Given the description of an element on the screen output the (x, y) to click on. 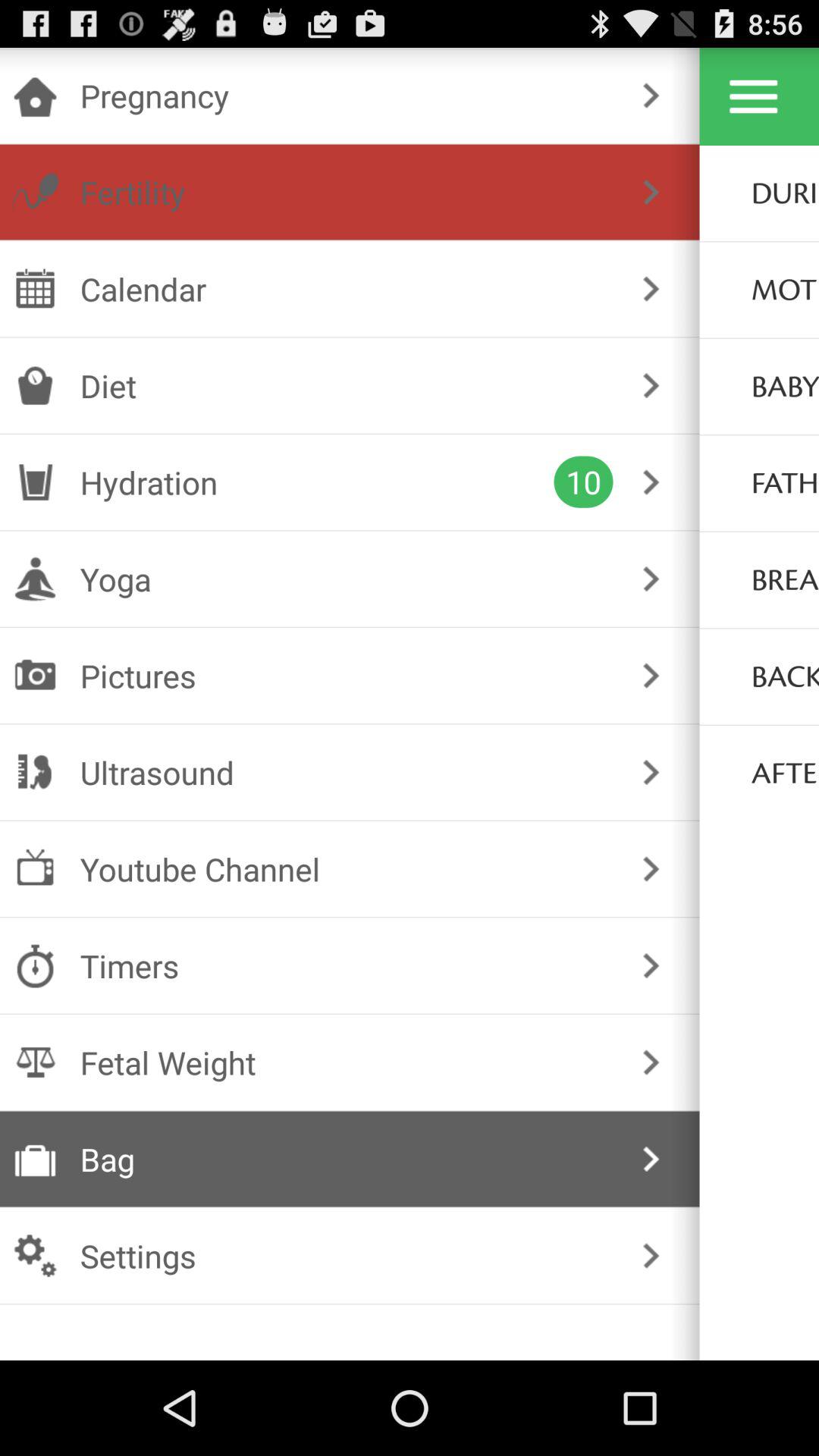
launch the app next to after some time (651, 771)
